Given the description of an element on the screen output the (x, y) to click on. 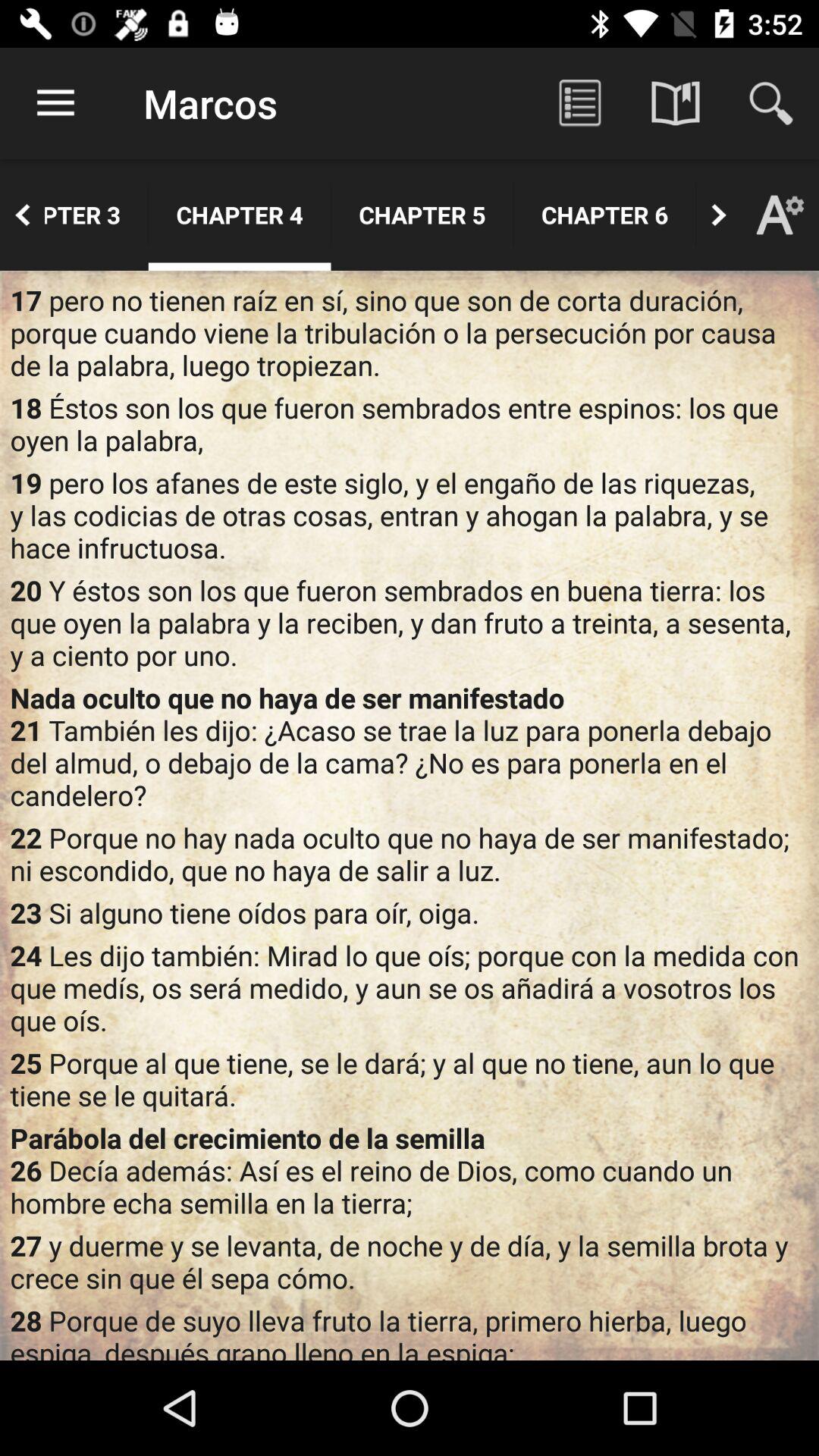
click on chapter 6 at the top (604, 214)
click on the button next to chapter 6 (718, 214)
click on the option which says chapter 3 (96, 214)
click on the button at the top right corner of the page (771, 103)
